Given the description of an element on the screen output the (x, y) to click on. 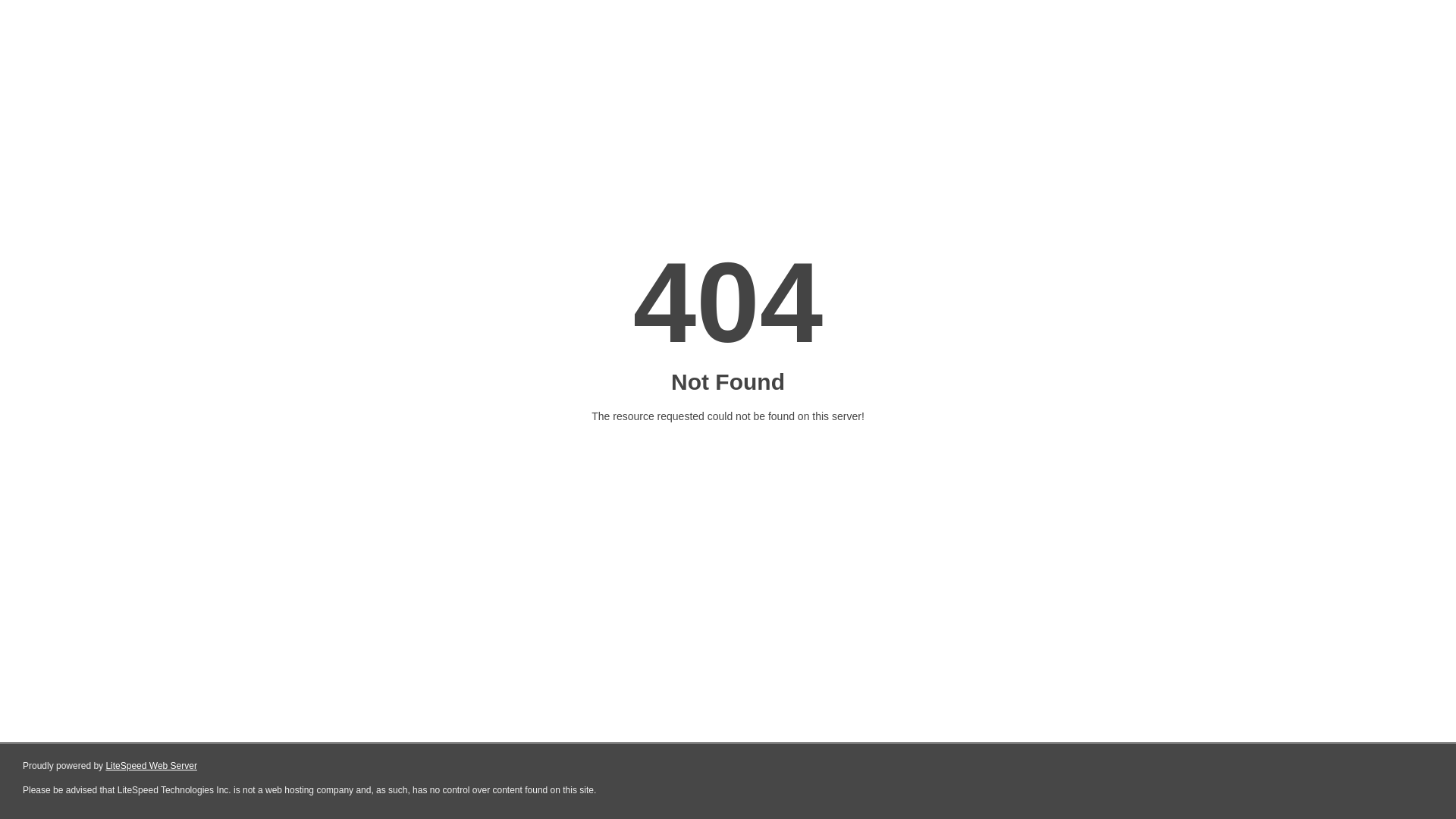
LiteSpeed Web Server Element type: text (151, 765)
